Given the description of an element on the screen output the (x, y) to click on. 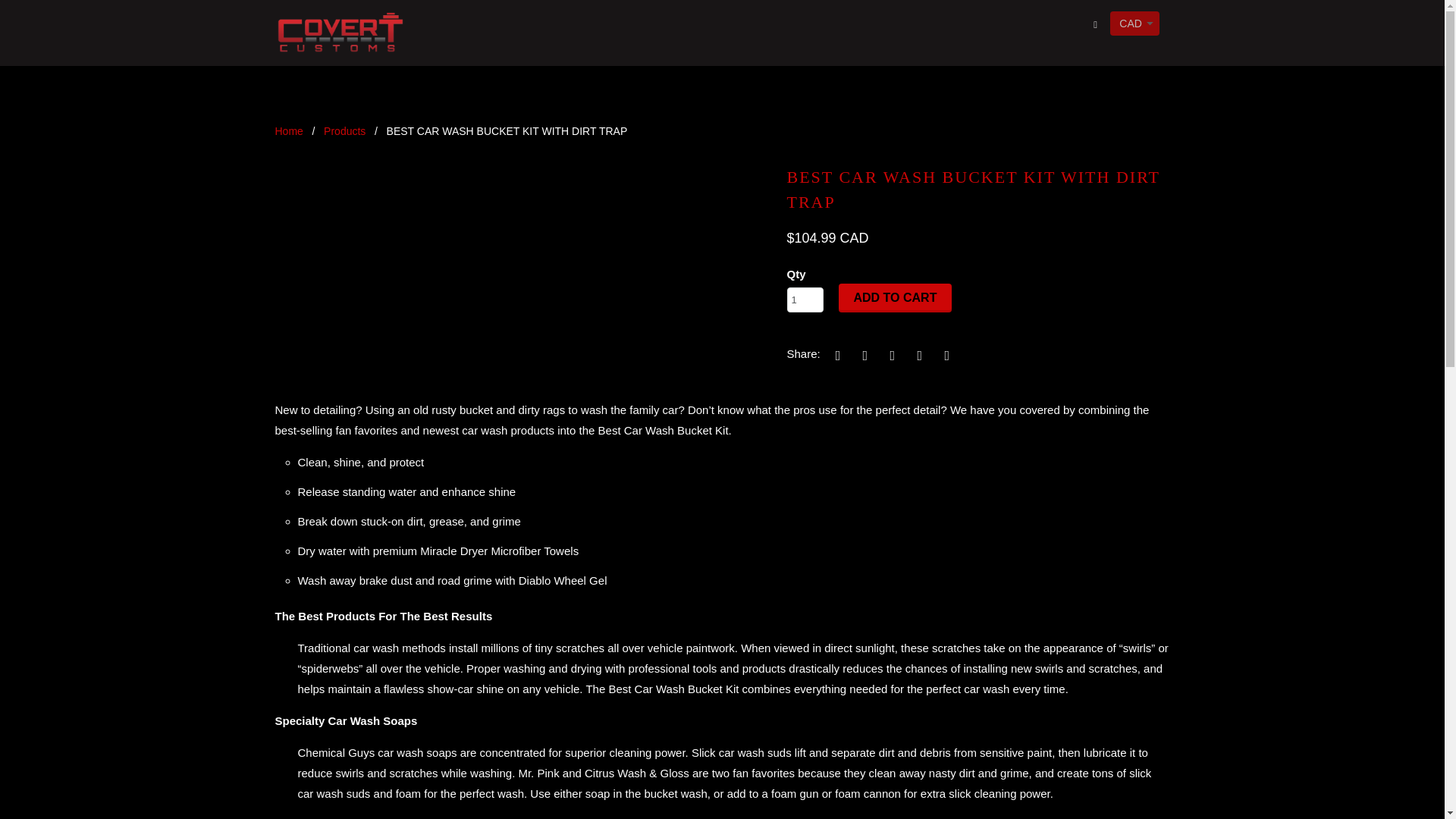
Share this on Twitter (835, 354)
Covert Customs (288, 131)
Share this on Facebook (862, 354)
Products (344, 131)
1 (805, 299)
Products (344, 131)
Home (288, 131)
Share this on Pinterest (889, 354)
ADD TO CART (895, 297)
Email this to a friend (944, 354)
